Given the description of an element on the screen output the (x, y) to click on. 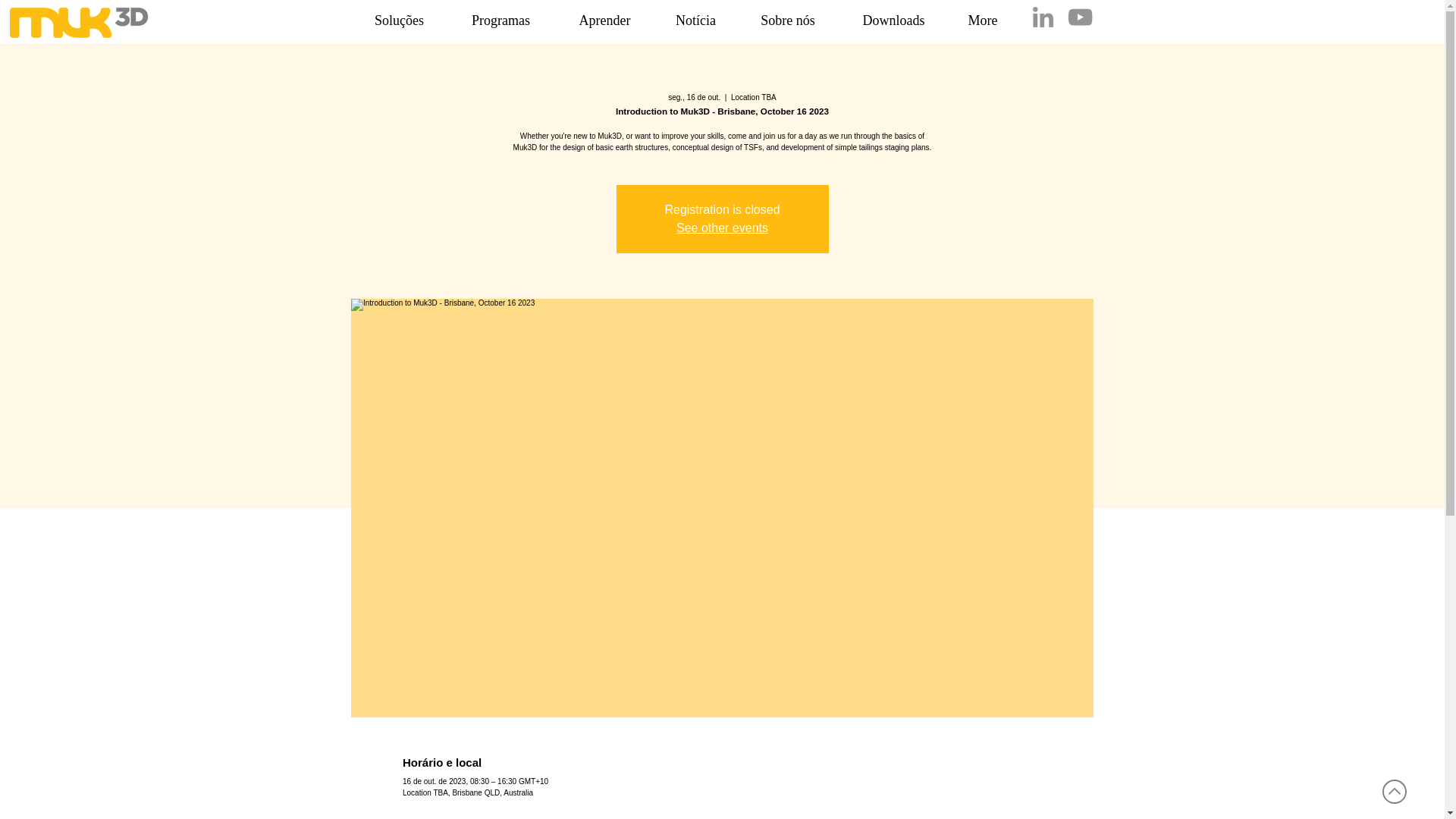
Downloads (892, 20)
Aprender (604, 20)
Programas (500, 20)
See other events (722, 227)
